Given the description of an element on the screen output the (x, y) to click on. 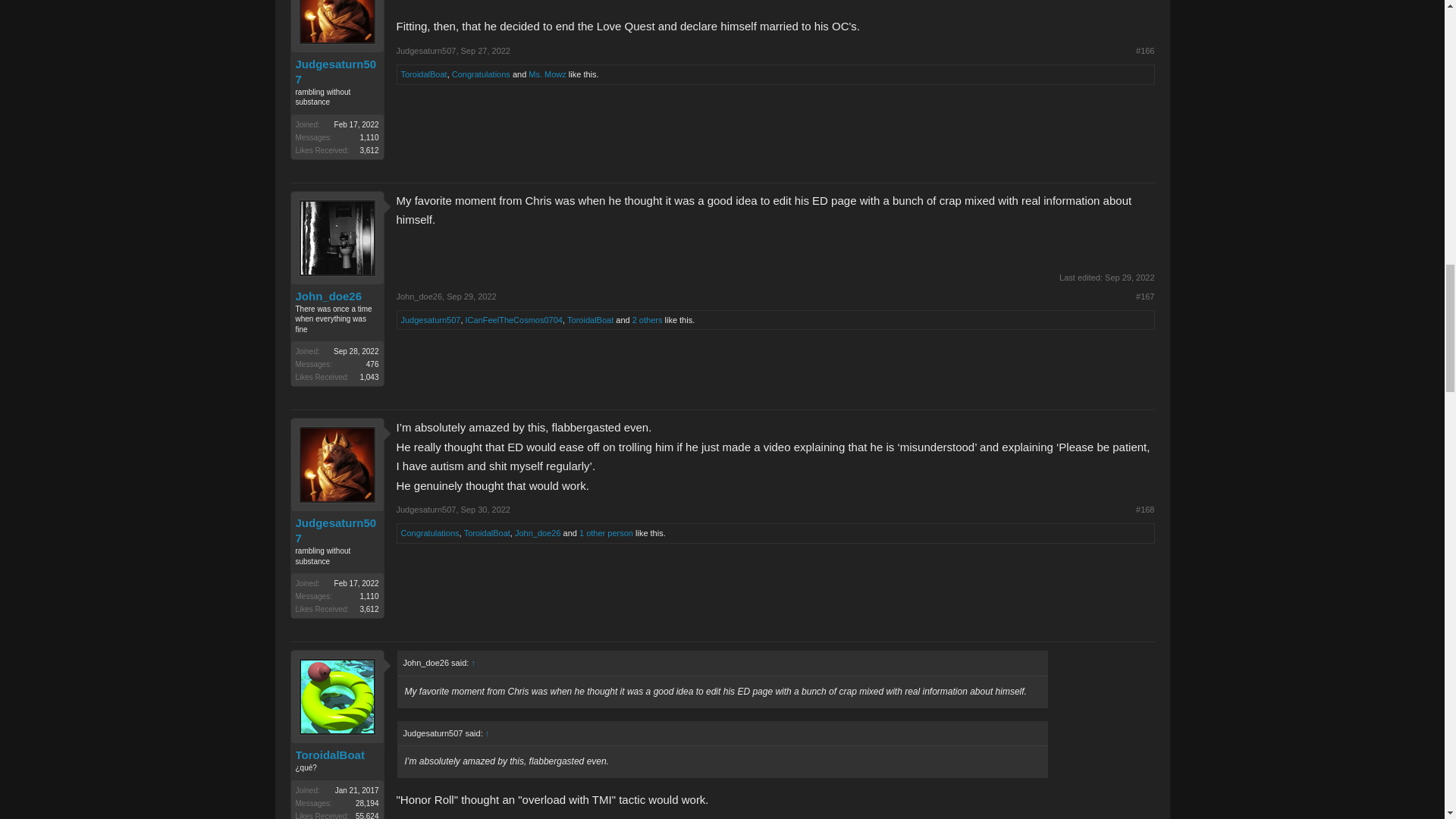
Permalink (486, 50)
